Given the description of an element on the screen output the (x, y) to click on. 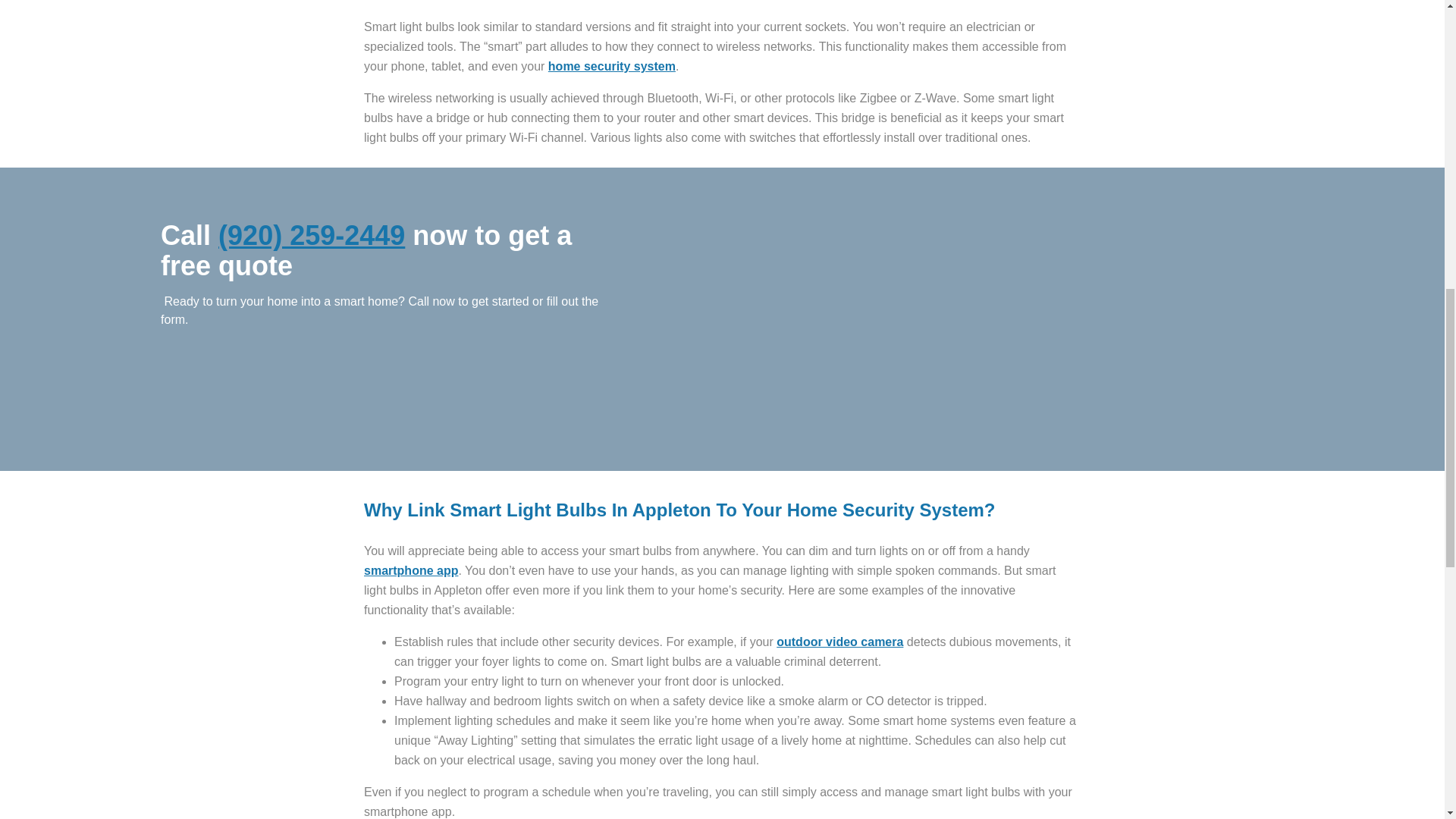
home security system (611, 65)
outdoor video camera (839, 641)
Smarthome app in Appleton (411, 570)
Home security system in Appleton (611, 65)
smartphone app (411, 570)
Outdoor surveillance system (839, 641)
